Given the description of an element on the screen output the (x, y) to click on. 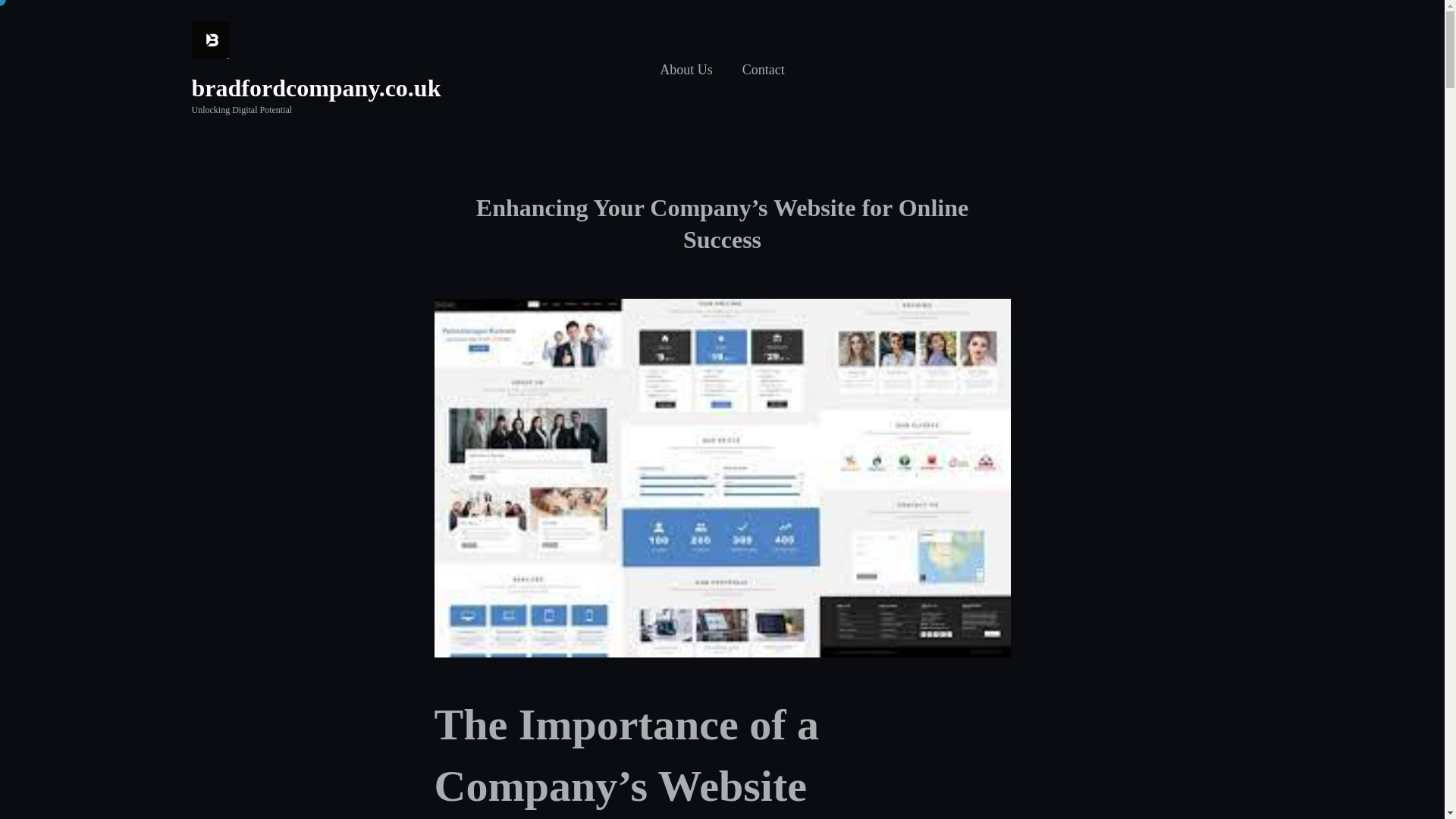
bradfordcompany.co.uk (315, 87)
Contact (763, 69)
About Us (686, 69)
